Given the description of an element on the screen output the (x, y) to click on. 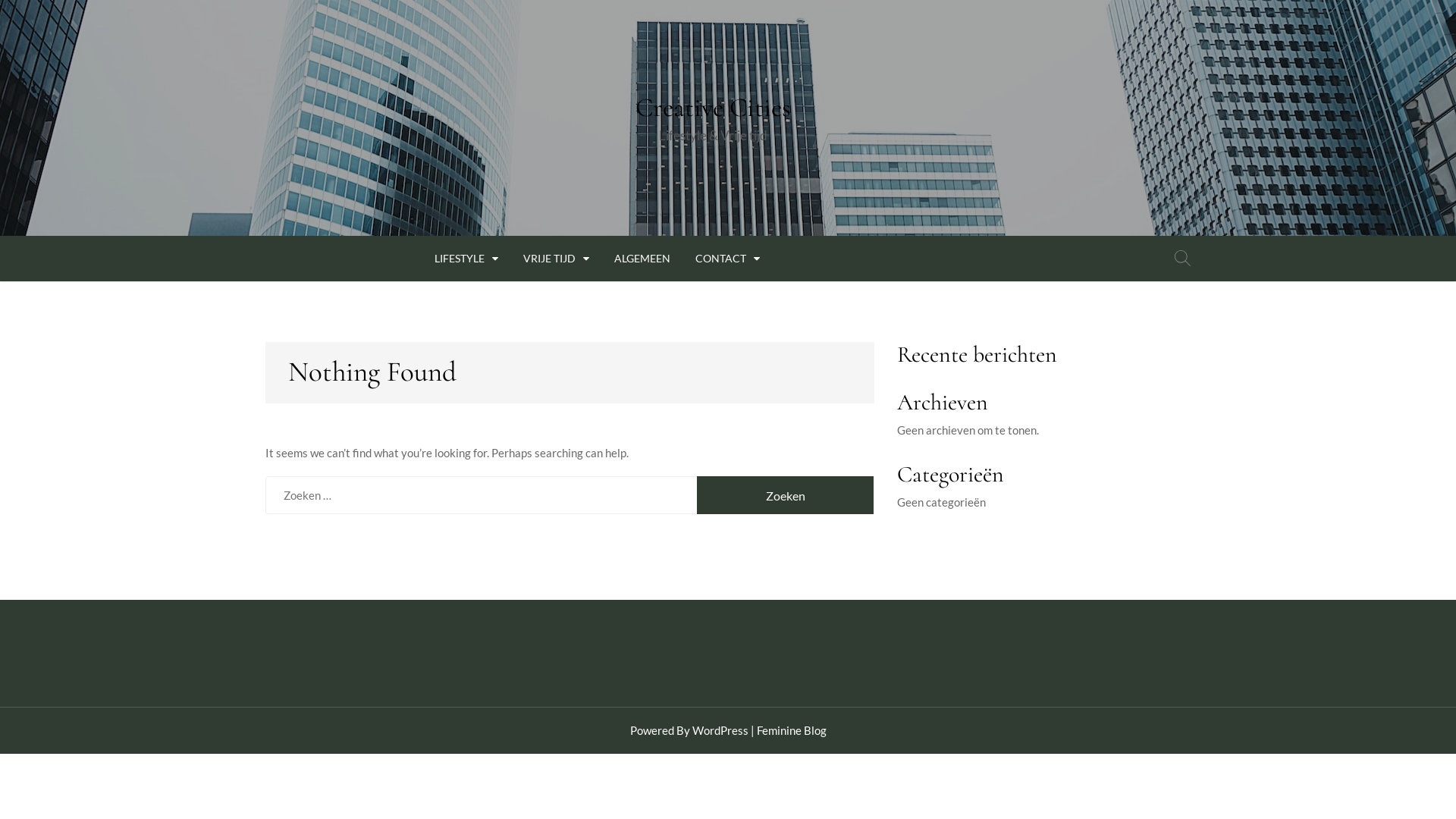
Creative Cities Element type: text (712, 107)
Zoeken Element type: text (784, 495)
VRIJE TIJD Element type: text (555, 256)
Zoeken Element type: text (1182, 258)
LIFESTYLE Element type: text (466, 256)
Feminine Blog Element type: text (791, 730)
CONTACT Element type: text (727, 256)
ALGEMEEN Element type: text (641, 256)
